Given the description of an element on the screen output the (x, y) to click on. 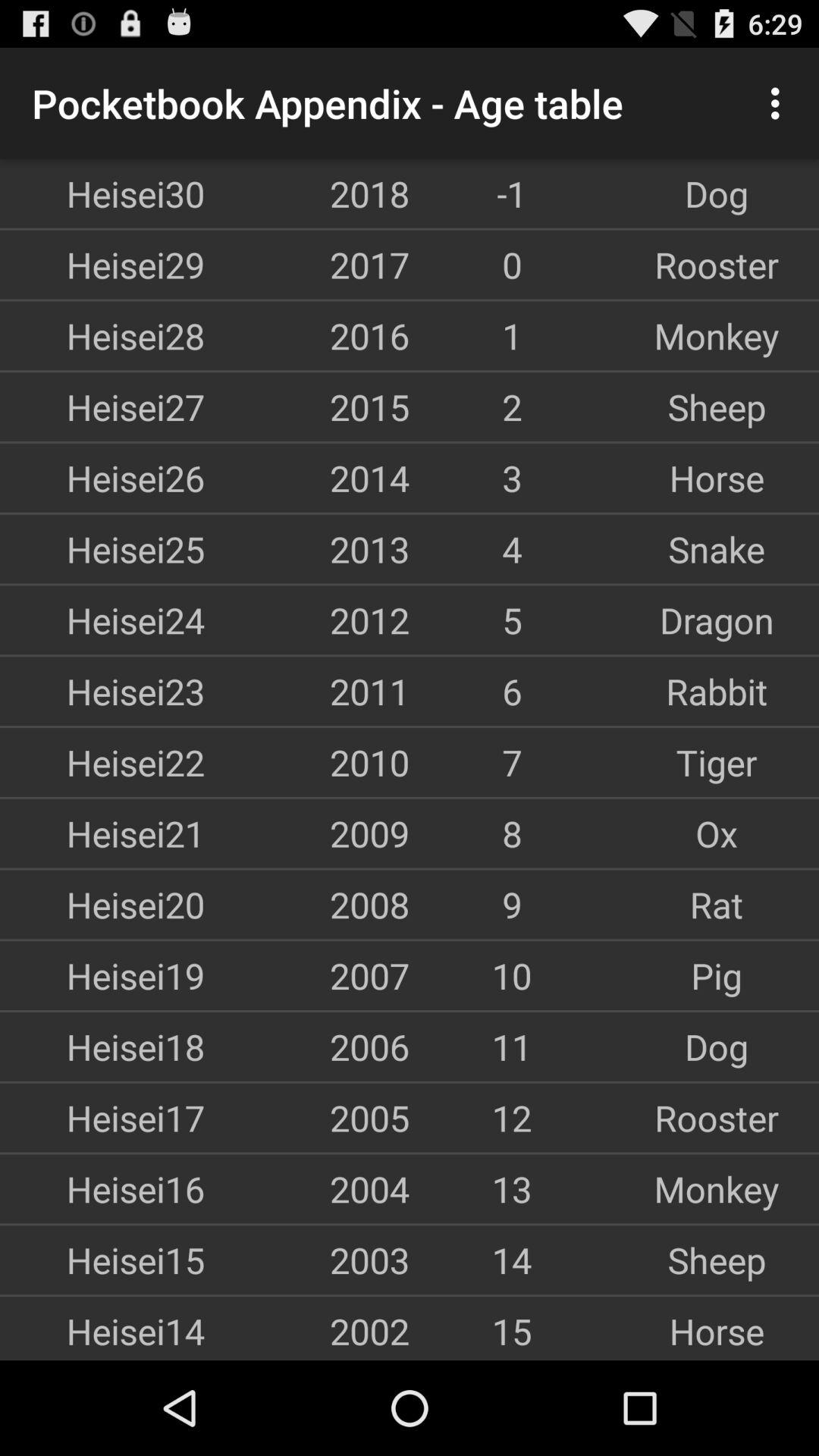
press item below heisei26 icon (102, 548)
